Given the description of an element on the screen output the (x, y) to click on. 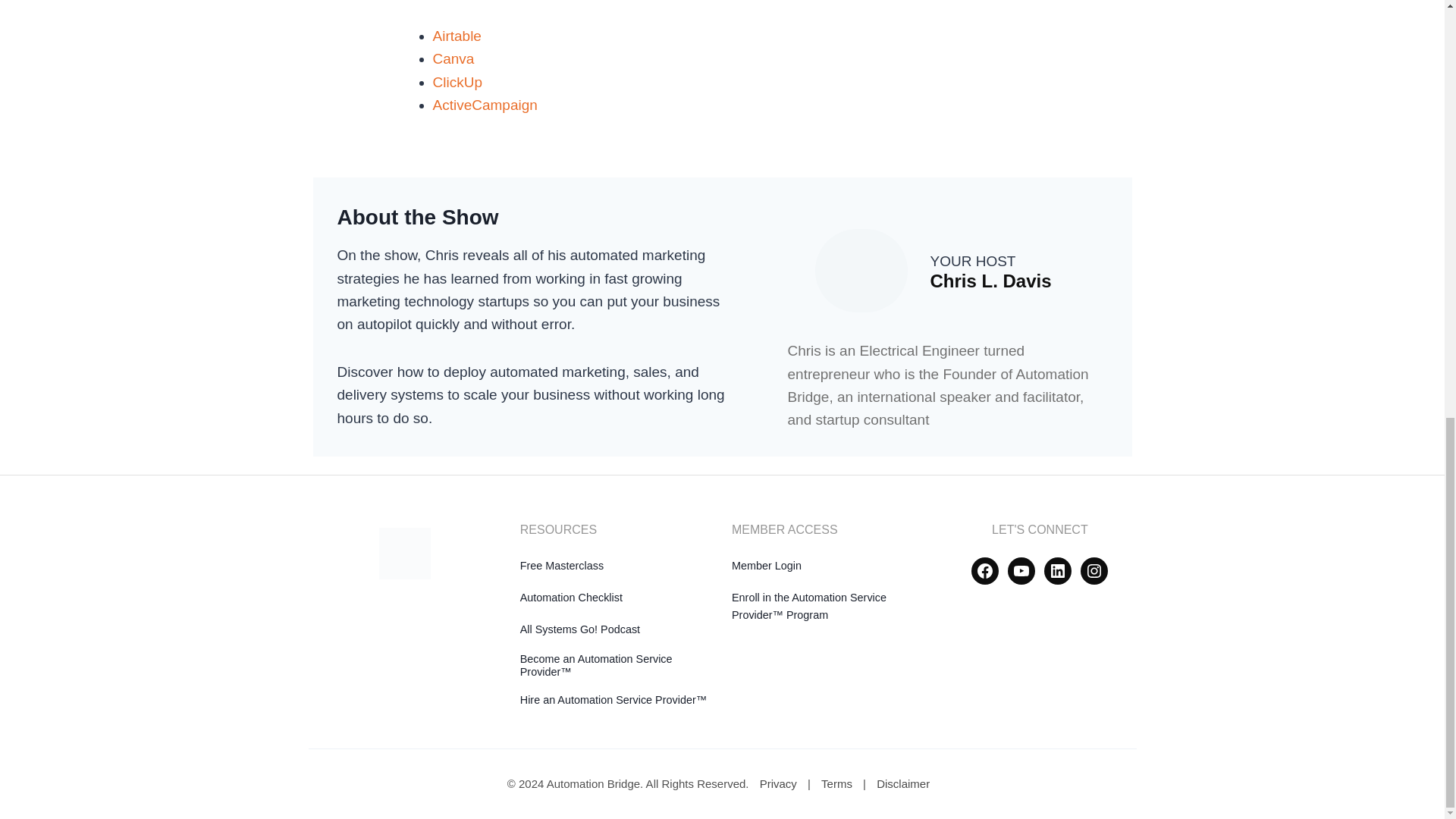
Canva (453, 58)
Automation Checklist (571, 597)
Terms (836, 783)
ClickUp (456, 81)
Privacy (778, 783)
Airtable (456, 35)
Free Masterclass (561, 565)
Member Login (767, 565)
ActiveCampaign (484, 105)
Disclaimer (903, 783)
